Given the description of an element on the screen output the (x, y) to click on. 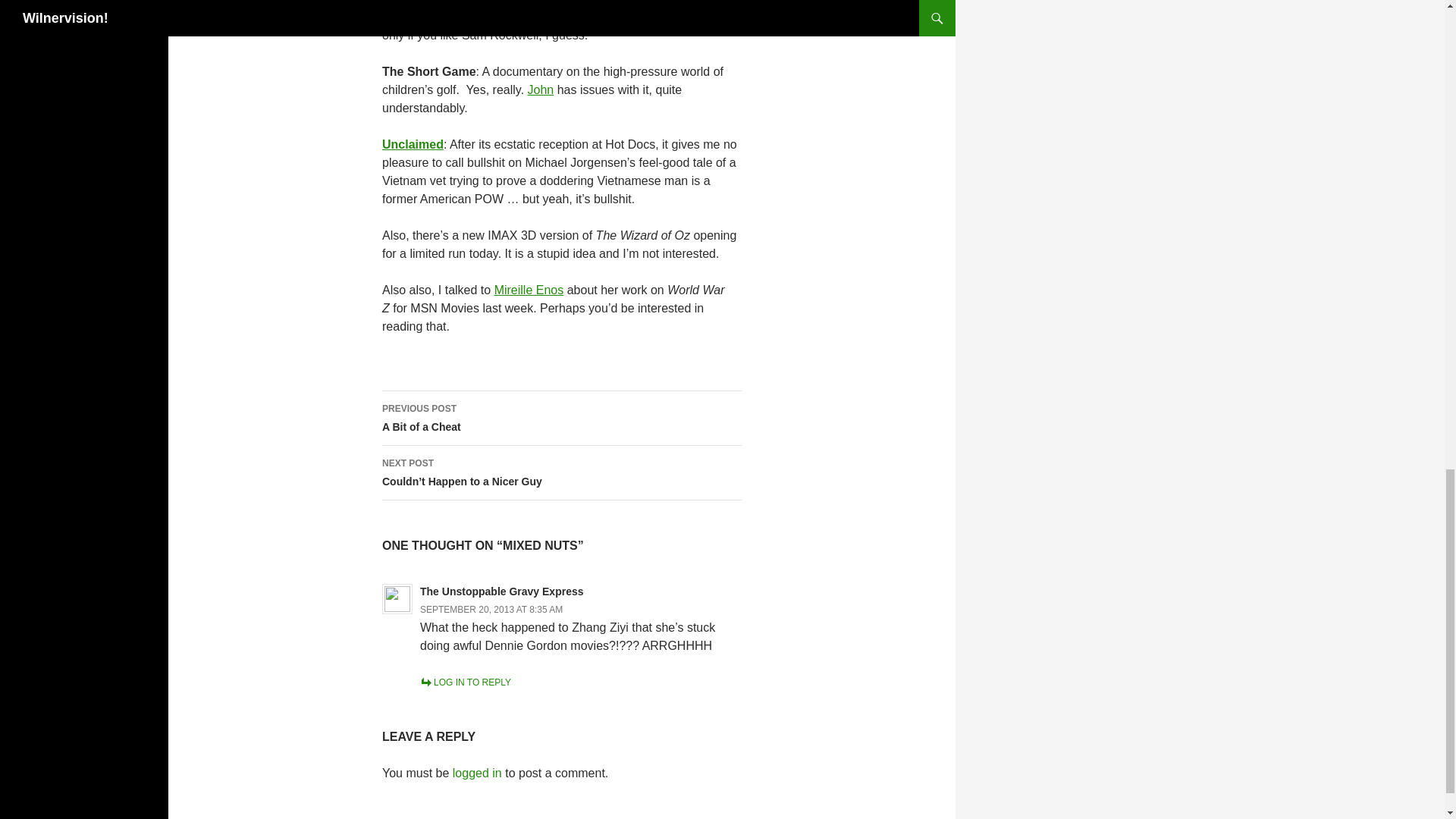
Mireille Enos (529, 289)
logged in (477, 772)
LOG IN TO REPLY (465, 682)
A Single Shot (420, 2)
Unclaimed (412, 144)
SEPTEMBER 20, 2013 AT 8:35 AM (491, 609)
John (540, 89)
